Given the description of an element on the screen output the (x, y) to click on. 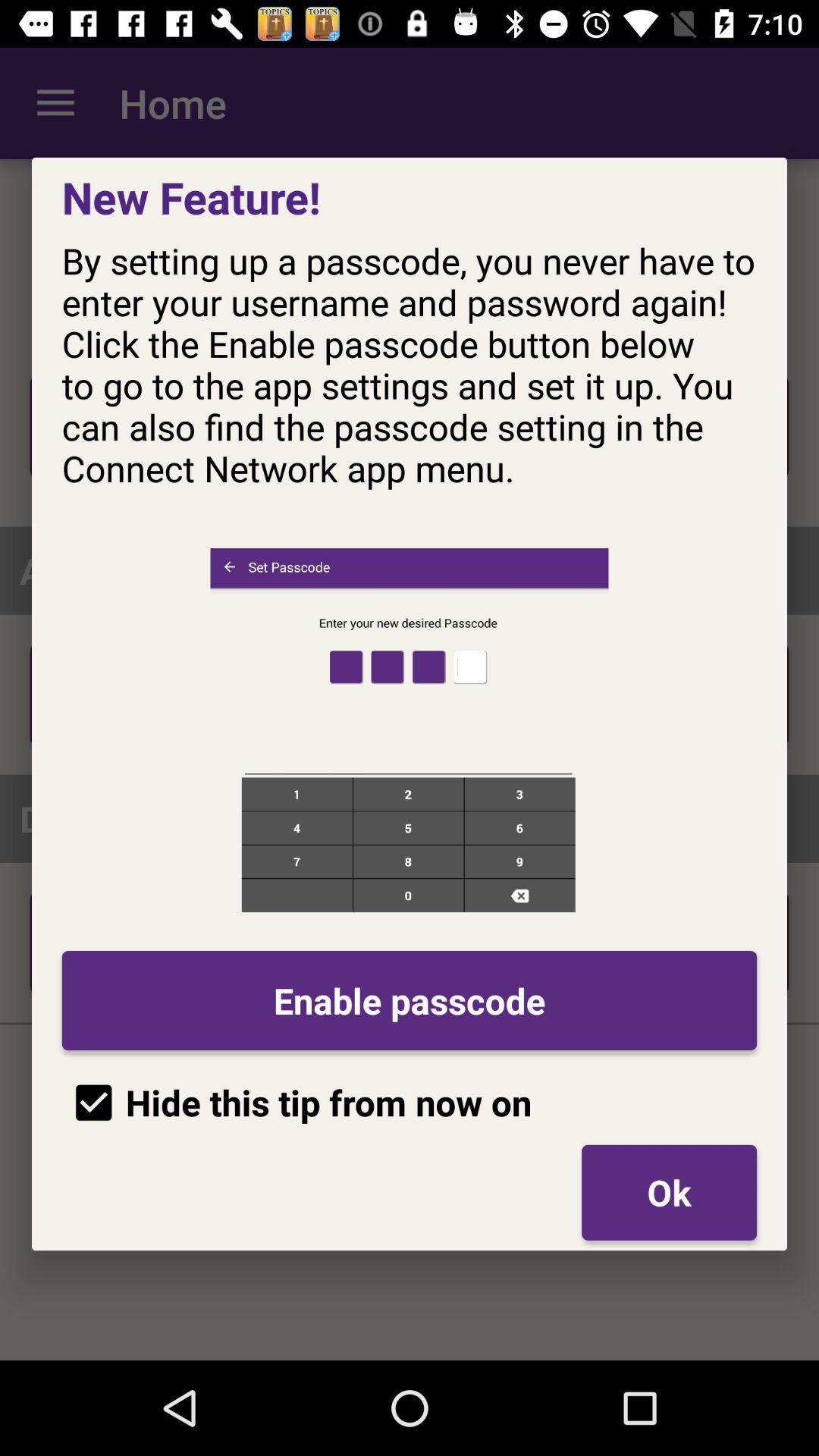
turn on hide this tip item (296, 1102)
